Given the description of an element on the screen output the (x, y) to click on. 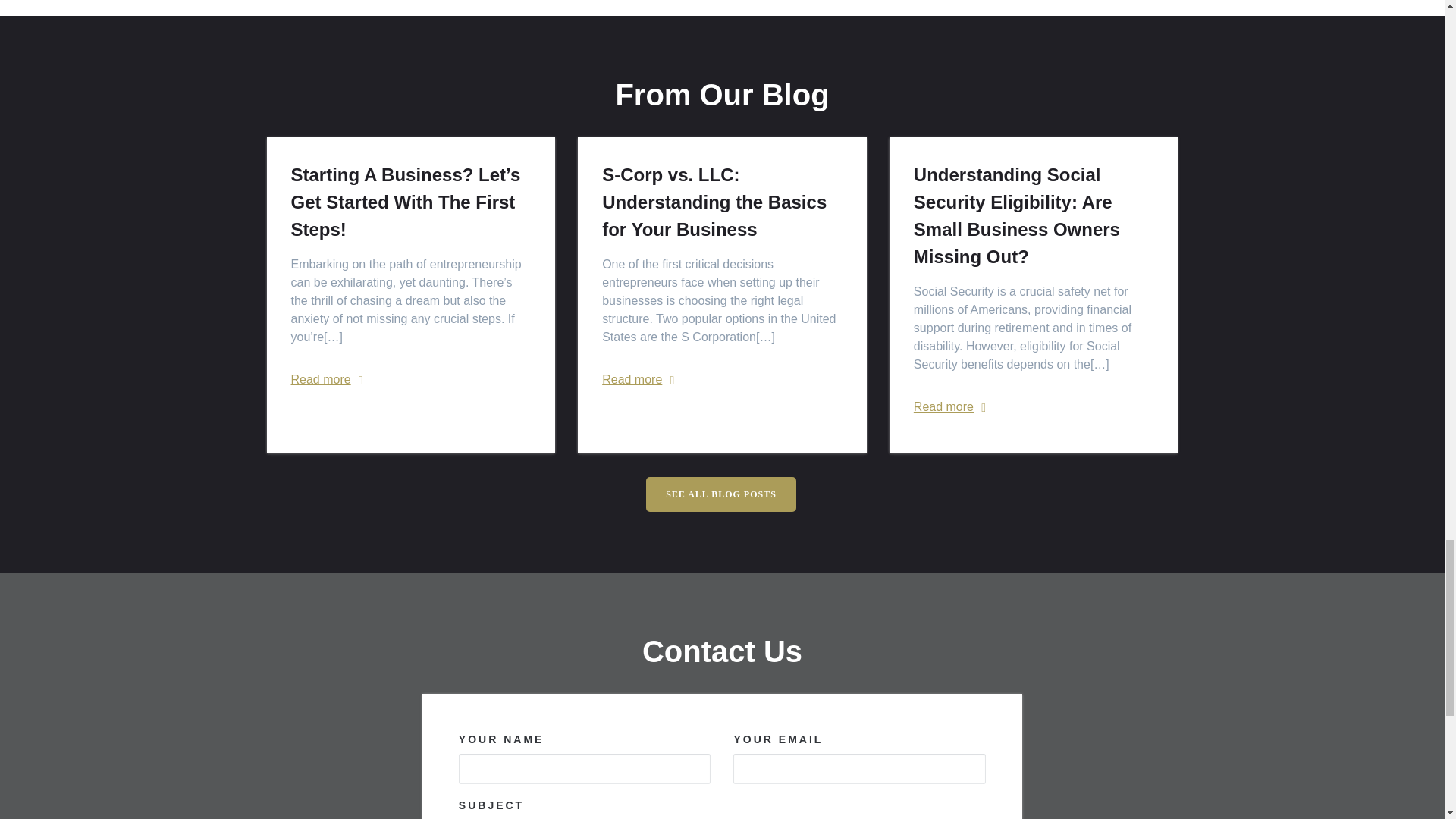
Read more (944, 407)
Read more (320, 380)
SEE ALL BLOG POSTS (721, 493)
Read more (632, 380)
S-Corp vs. LLC: Understanding the Basics for Your Business (722, 202)
